Given the description of an element on the screen output the (x, y) to click on. 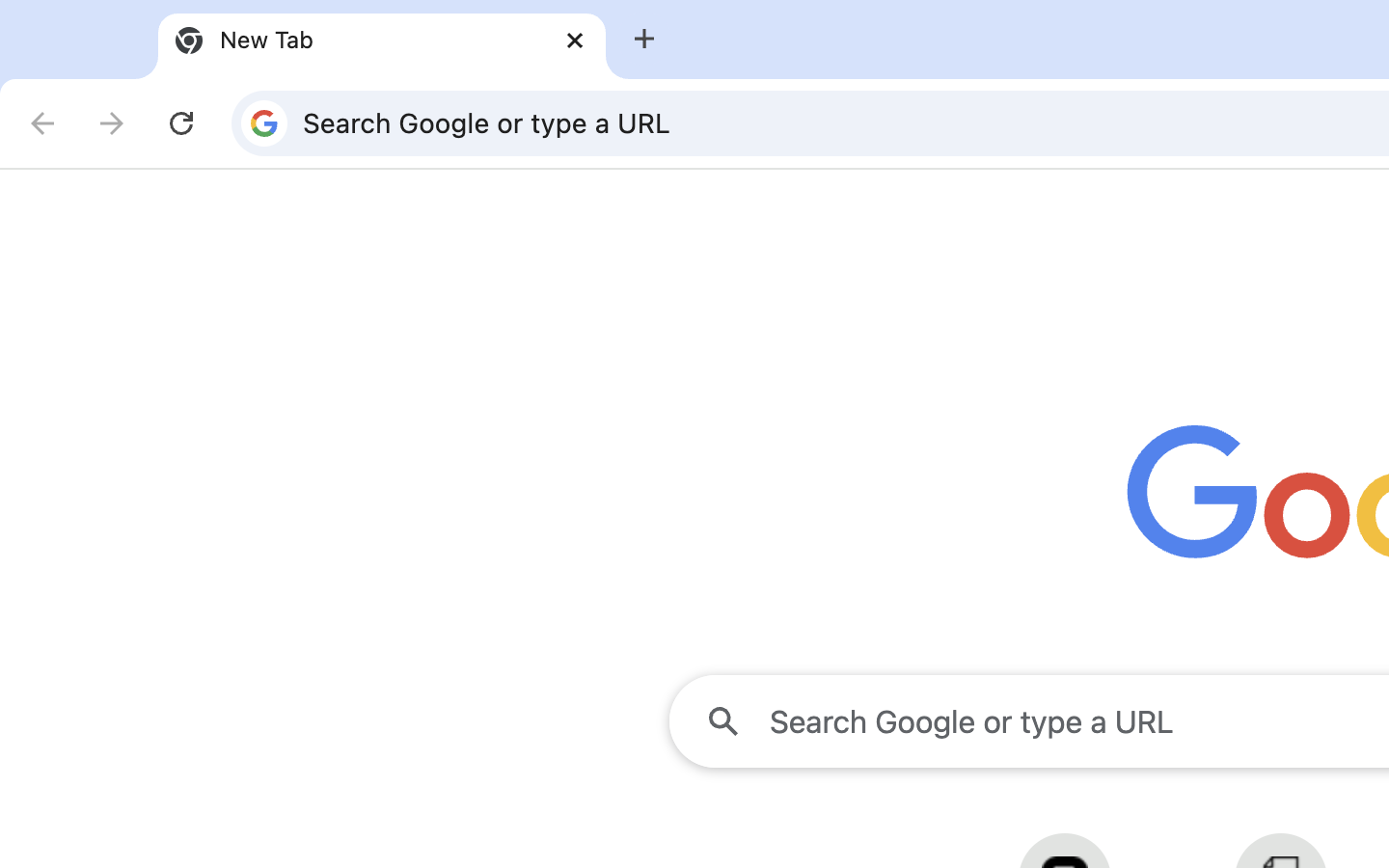
True Element type: AXRadioButton (381, 41)
